Given the description of an element on the screen output the (x, y) to click on. 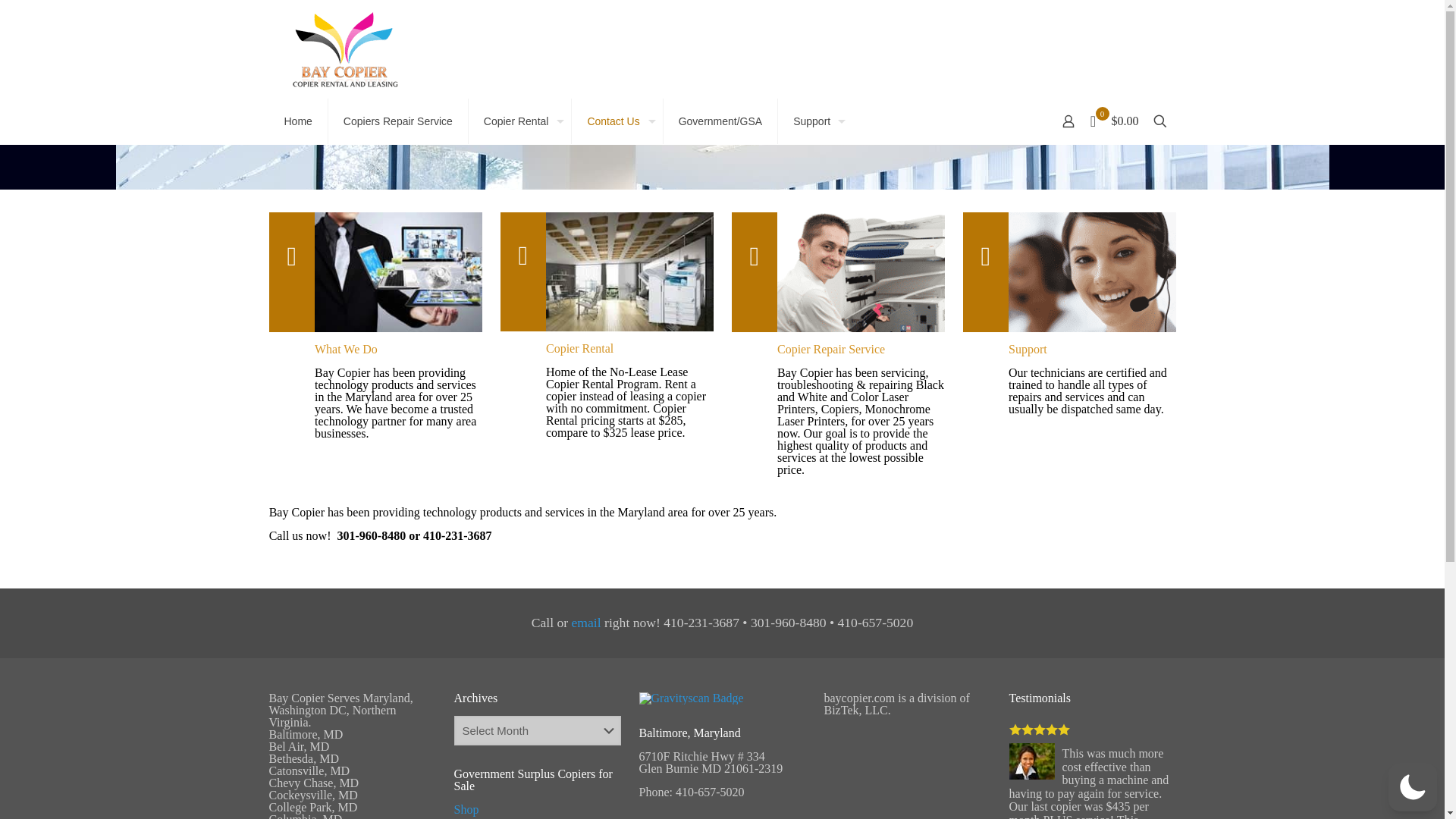
Support (815, 121)
email (586, 622)
Home (297, 121)
Copiers Repair Service (398, 121)
Bay Copier Rental and Copier Repair Service (344, 49)
Contact Us (617, 121)
Shop (465, 809)
Copier Rental (520, 121)
